Given the description of an element on the screen output the (x, y) to click on. 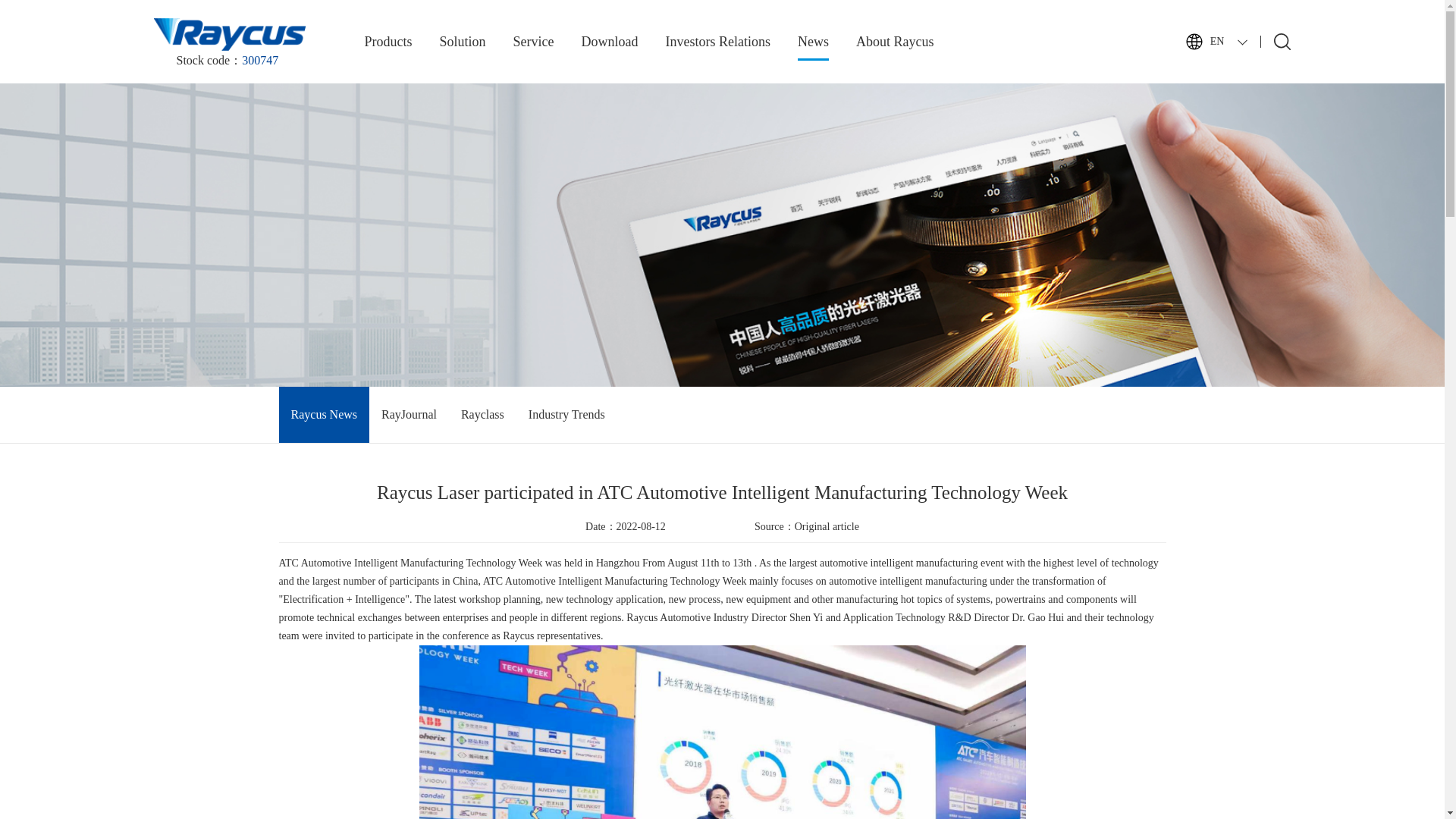
Raycus (228, 34)
Investors Relations (717, 41)
EN (1214, 63)
